Given the description of an element on the screen output the (x, y) to click on. 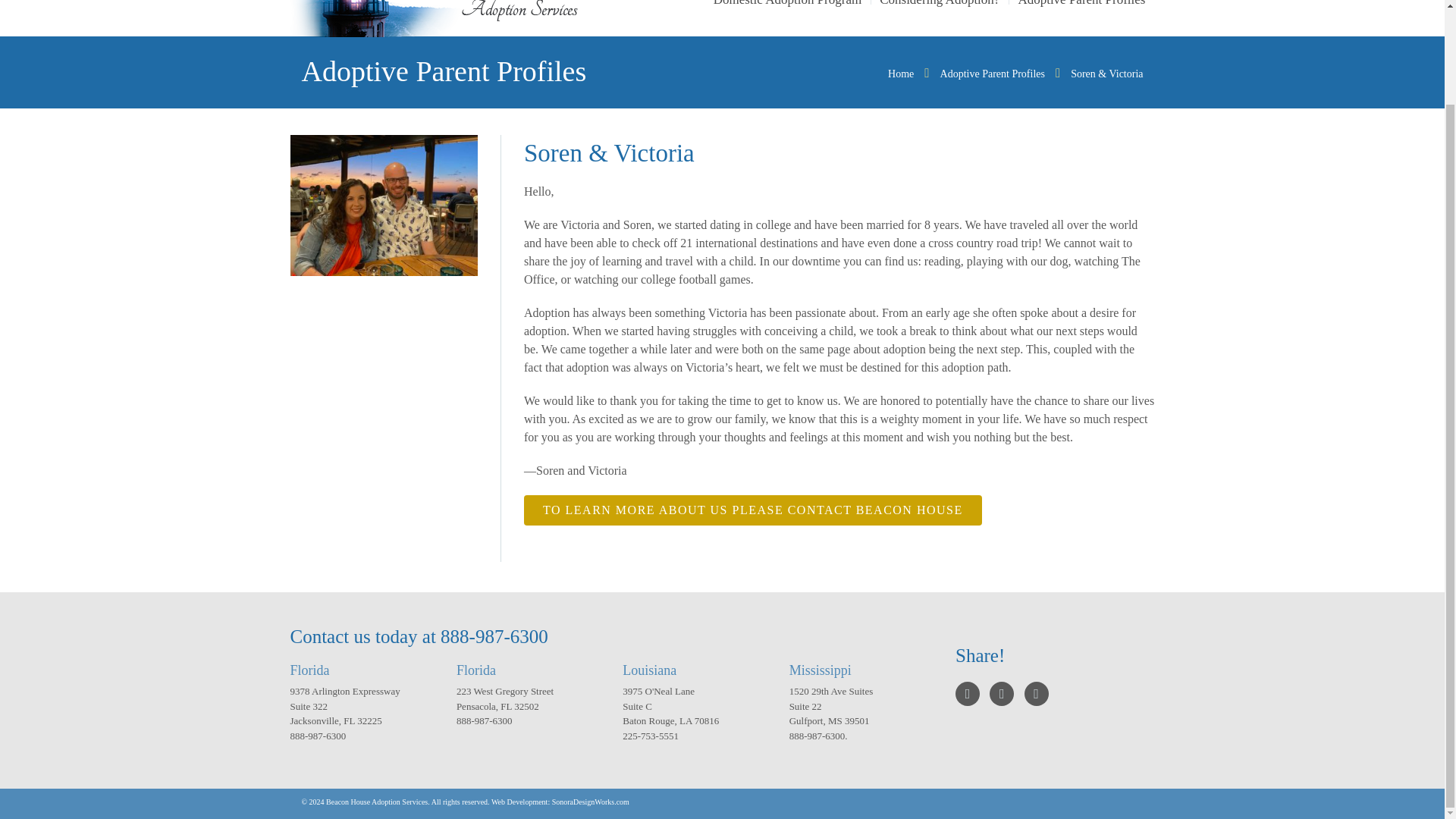
Domestic Adoption Program (787, 6)
Adoptive Parent Profiles (1081, 6)
Considering Adoption? (939, 6)
Home (901, 73)
